Given the description of an element on the screen output the (x, y) to click on. 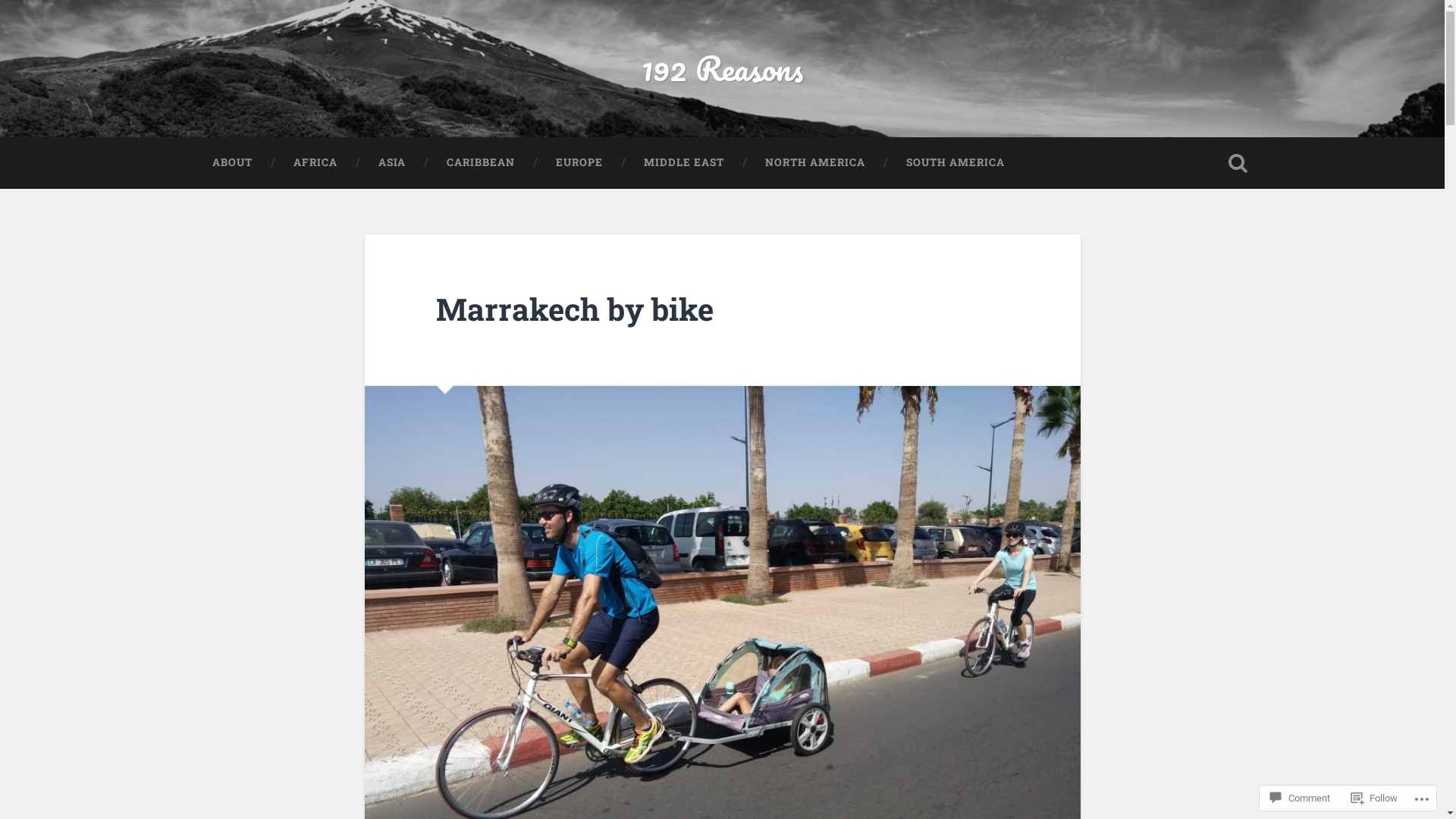
Comment Element type: text (1300, 797)
ABOUT Element type: text (231, 162)
MIDDLE EAST Element type: text (683, 162)
SOUTH AMERICA Element type: text (955, 162)
192 Reasons Element type: text (722, 67)
EUROPE Element type: text (579, 162)
Marrakech by bike Element type: text (574, 308)
AFRICA Element type: text (315, 162)
Open Search Element type: text (1237, 162)
NORTH AMERICA Element type: text (814, 162)
Follow Element type: text (1374, 797)
ASIA Element type: text (391, 162)
CARIBBEAN Element type: text (480, 162)
